Given the description of an element on the screen output the (x, y) to click on. 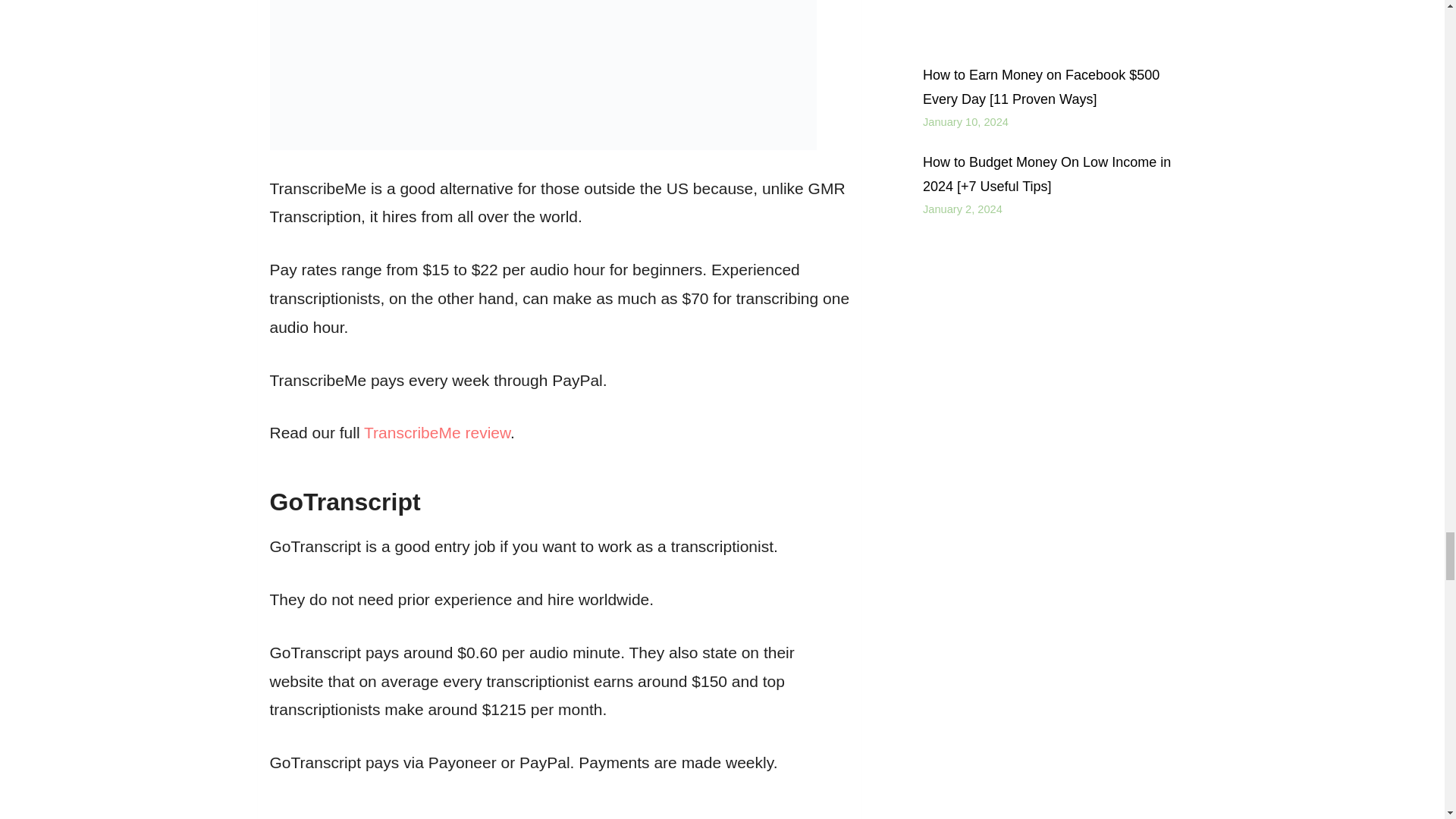
TranscribeMe review (437, 432)
